Given the description of an element on the screen output the (x, y) to click on. 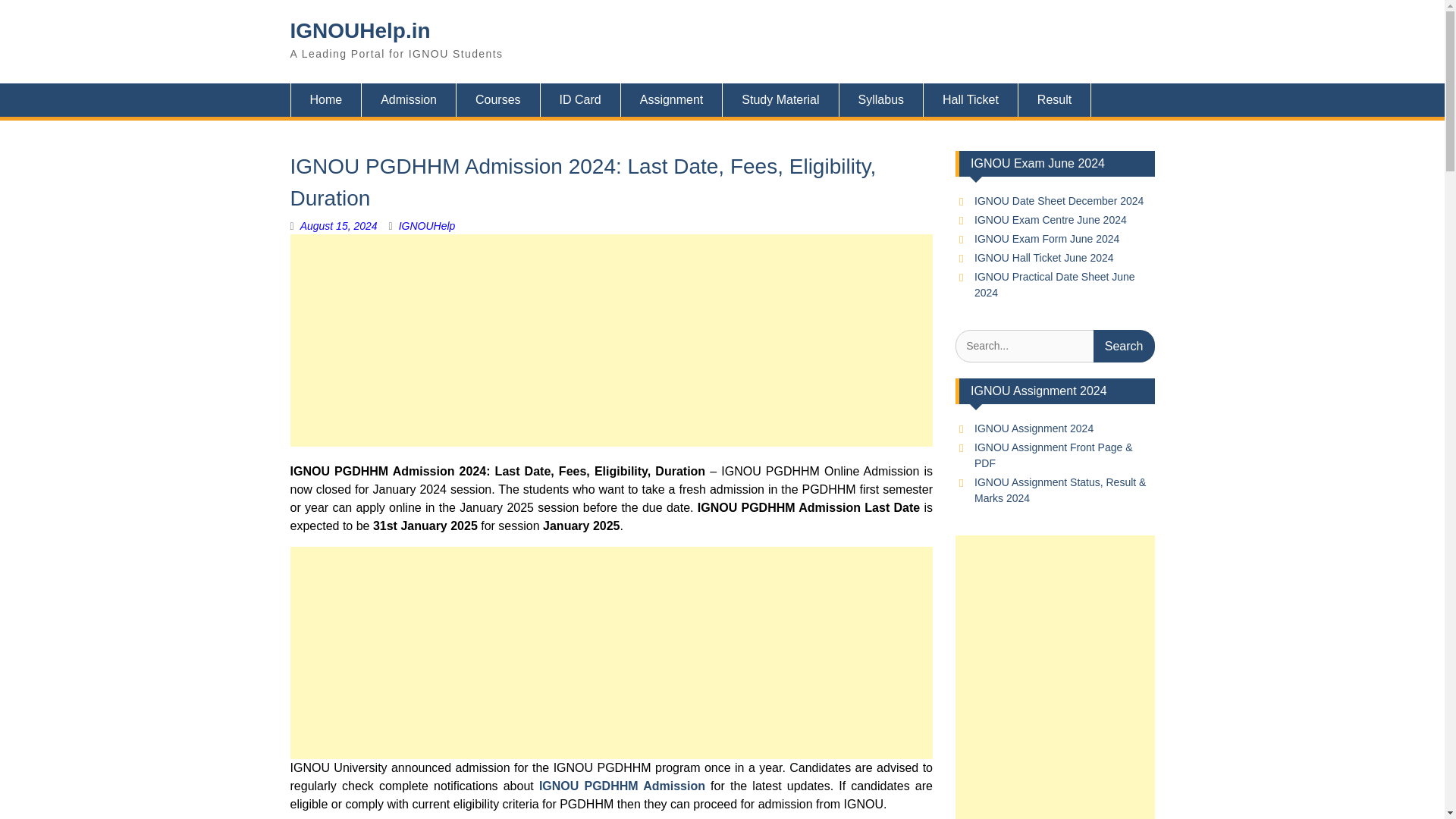
IGNOUHelp.in (359, 30)
Admission (409, 100)
Search (1123, 346)
Home (325, 100)
Courses (498, 100)
Assignment (672, 100)
Search (1123, 346)
IGNOUHelp (426, 225)
Result (1053, 100)
Search for: (1054, 346)
